Given the description of an element on the screen output the (x, y) to click on. 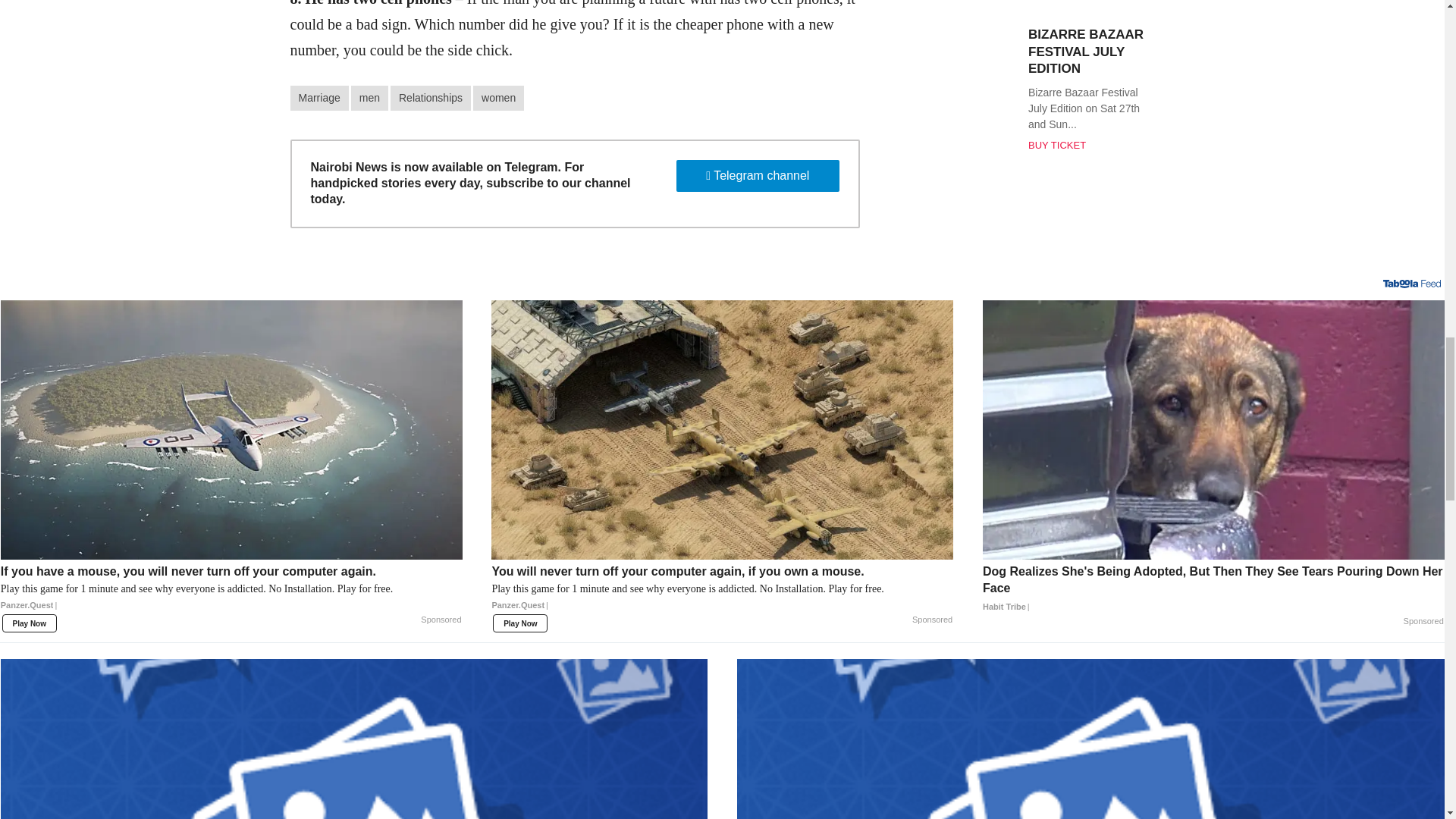
Marriage (318, 97)
men (369, 97)
